Given the description of an element on the screen output the (x, y) to click on. 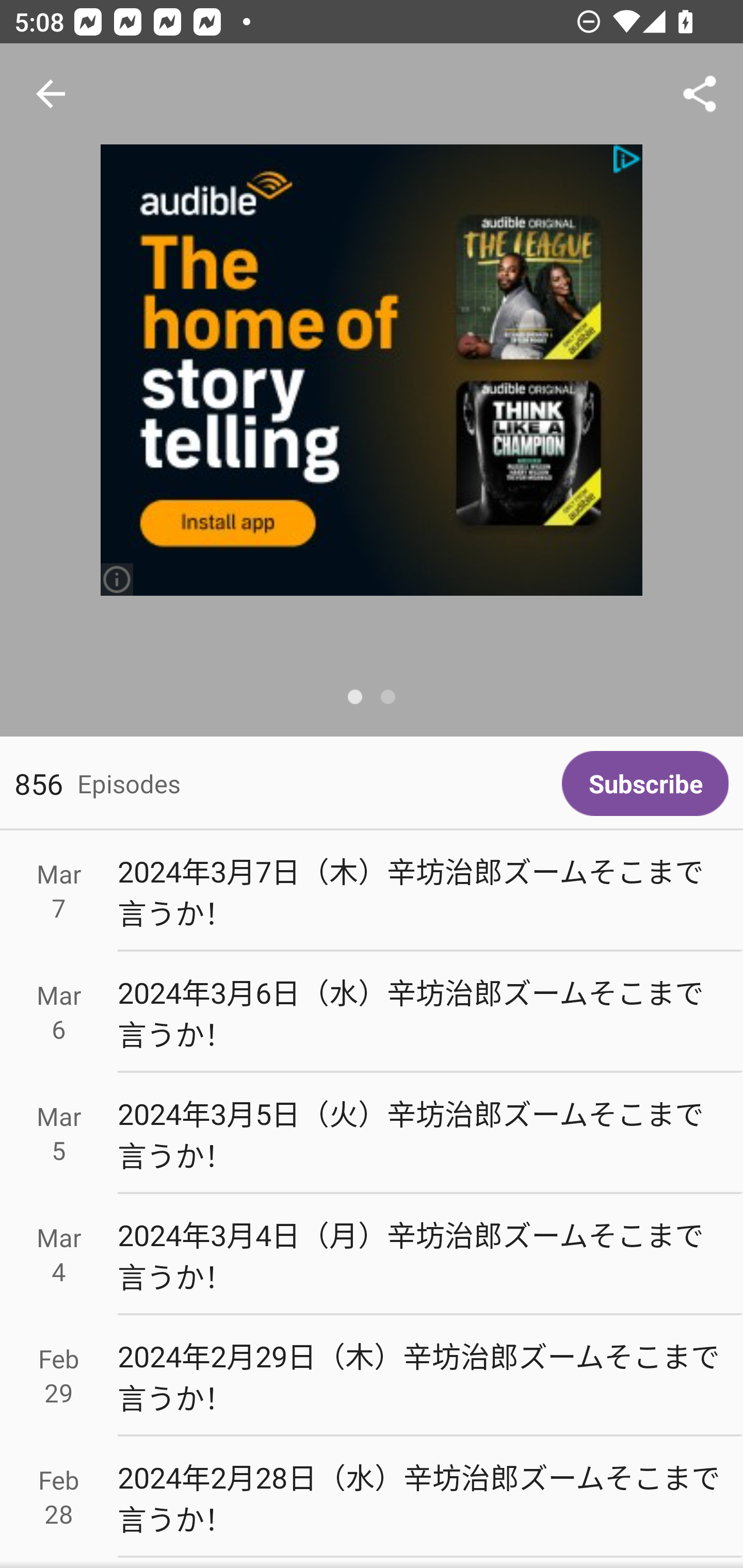
Navigate up (50, 93)
Share... (699, 93)
lle9m6dk_dojo1qh_onfbzh639xj3lele (371, 369)
privacy (627, 159)
Subscribe (644, 783)
Mar 7 2024年3月7日（木）辛坊治郎ズームそこまで言うか！ (371, 891)
Mar 6 2024年3月6日（水）辛坊治郎ズームそこまで言うか！ (371, 1011)
Mar 5 2024年3月5日（火）辛坊治郎ズームそこまで言うか！ (371, 1133)
Mar 4 2024年3月4日（月）辛坊治郎ズームそこまで言うか！ (371, 1254)
Feb 29 2024年2月29日（木）辛坊治郎ズームそこまで言うか！ (371, 1375)
Feb 28 2024年2月28日（水）辛坊治郎ズームそこまで言うか！ (371, 1496)
